Given the description of an element on the screen output the (x, y) to click on. 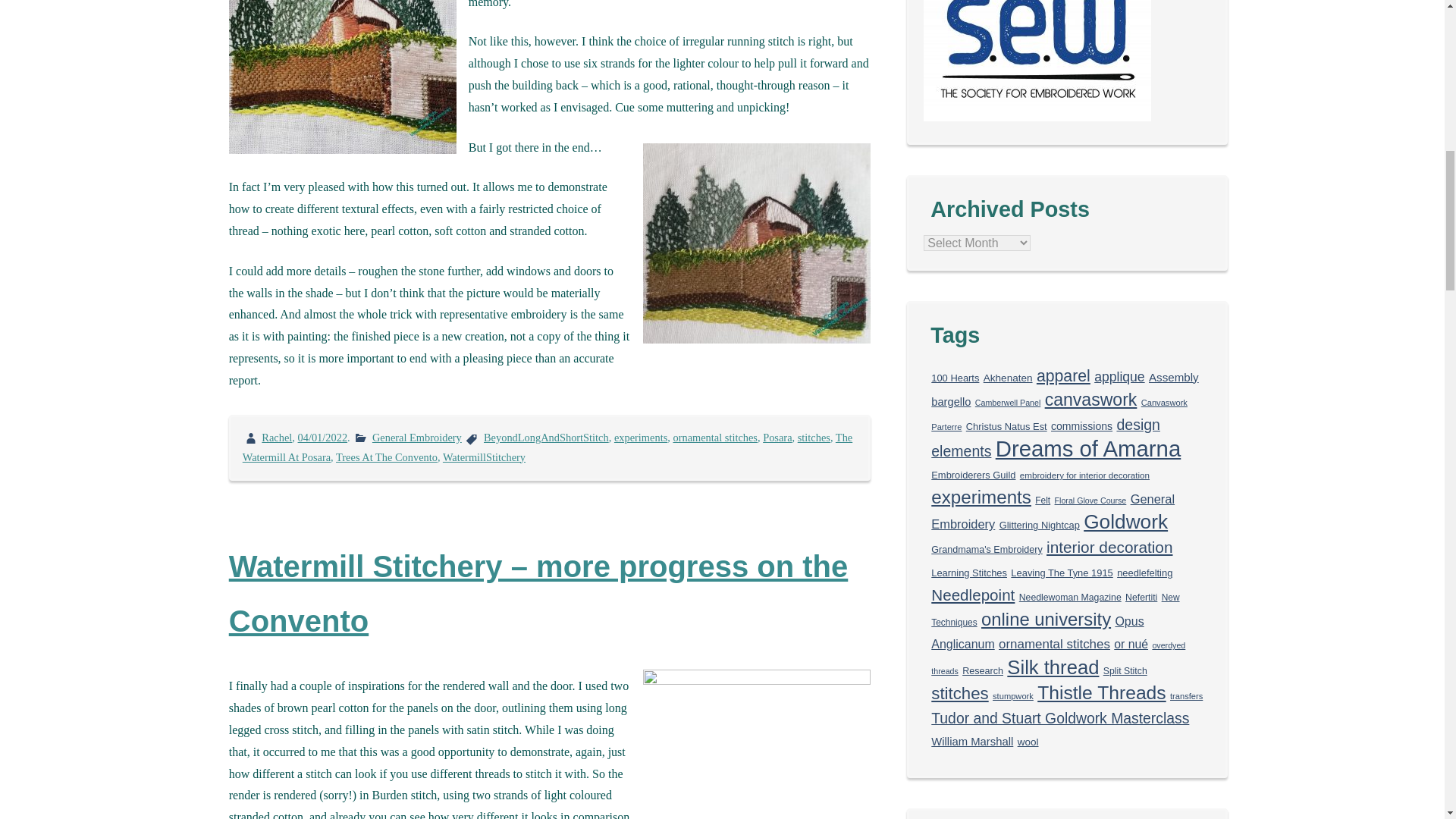
Trees At The Convento (387, 457)
Rachel (277, 437)
The Watermill At Posara (547, 447)
View all posts by Rachel (277, 437)
BeyondLongAndShortStitch (545, 437)
experiments (640, 437)
General Embroidery (416, 437)
stitches (813, 437)
ornamental stitches (714, 437)
WatermillStitchery (483, 457)
